Given the description of an element on the screen output the (x, y) to click on. 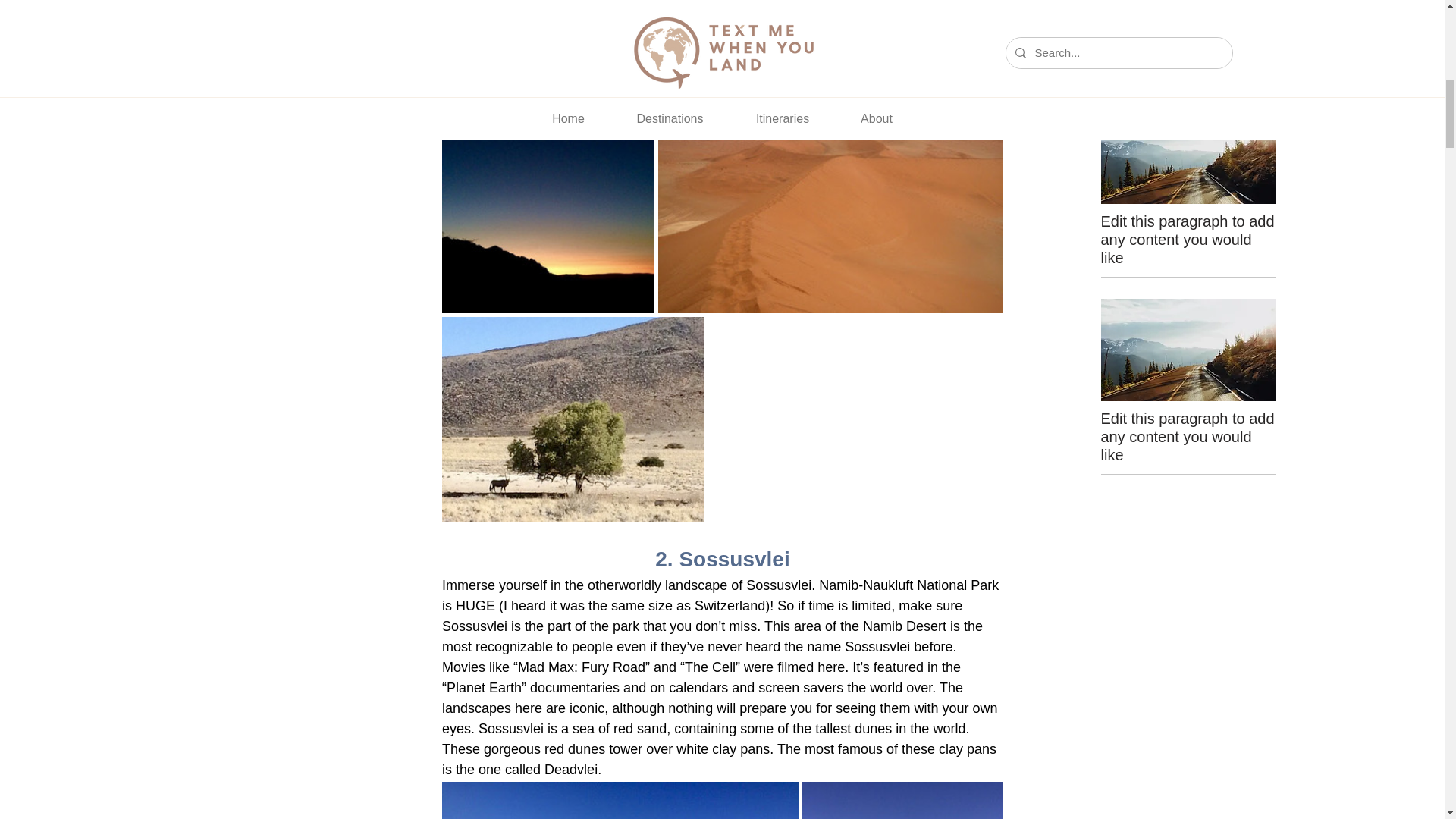
Countryside Road (1187, 349)
Countryside Road (1187, 152)
Countryside Road (1187, 3)
